Given the description of an element on the screen output the (x, y) to click on. 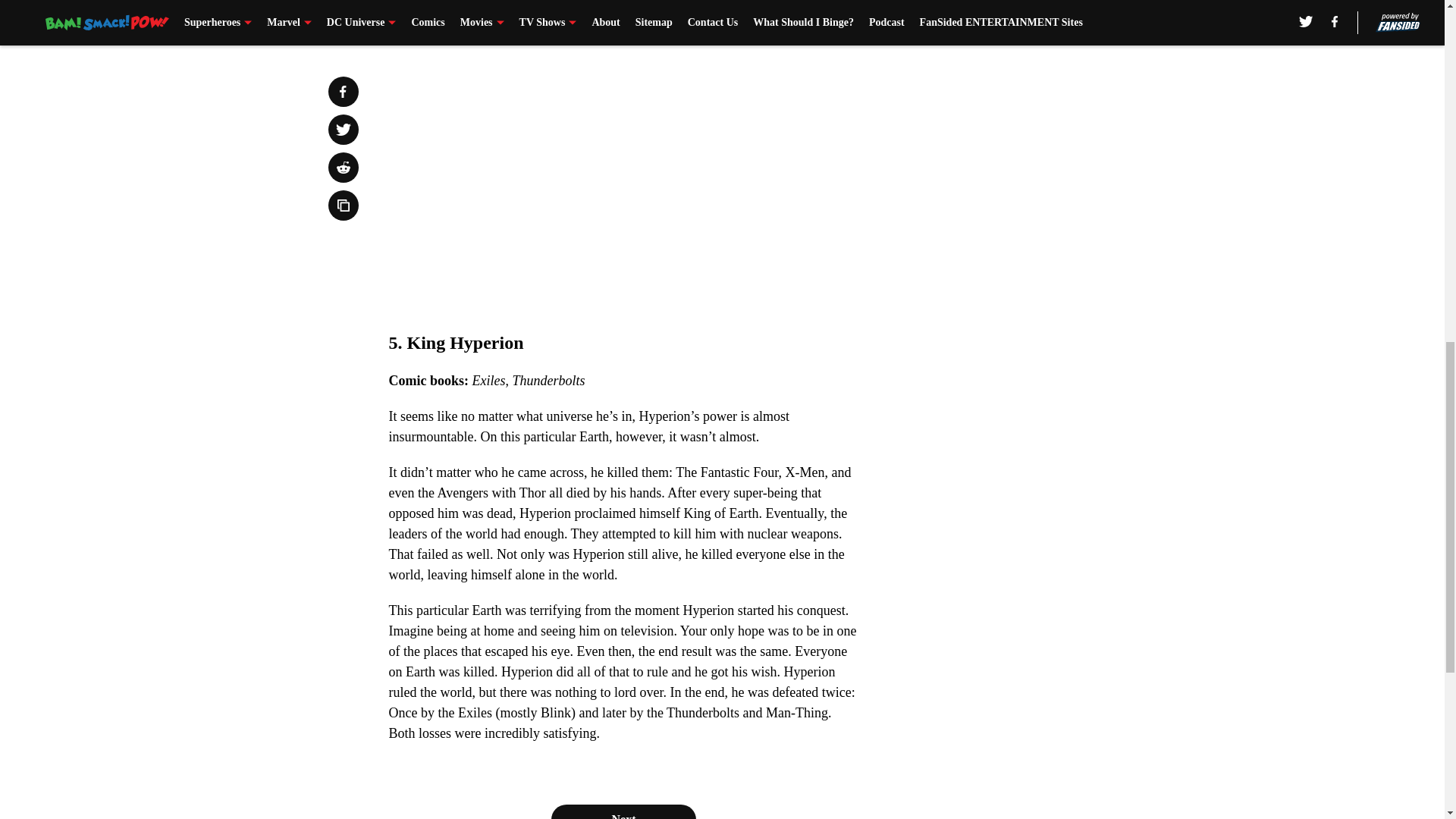
Next (622, 811)
Next (813, 20)
Prev (433, 20)
